Given the description of an element on the screen output the (x, y) to click on. 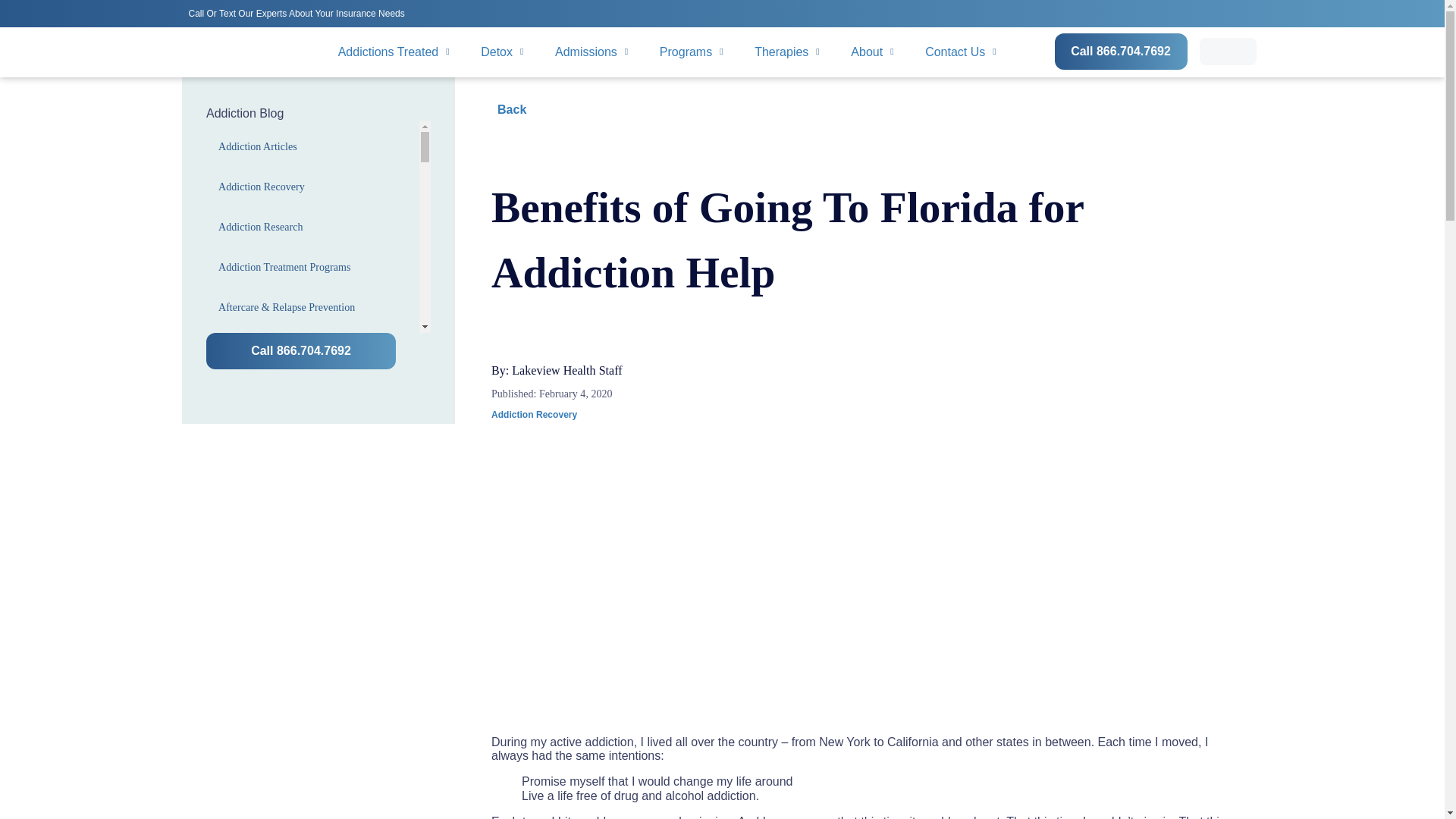
Admissions (591, 51)
Call Or Text Our Experts About Your Insurance Needs (298, 12)
Detox (502, 51)
Programs (691, 51)
Therapies (787, 51)
Addictions Treated (394, 51)
